Given the description of an element on the screen output the (x, y) to click on. 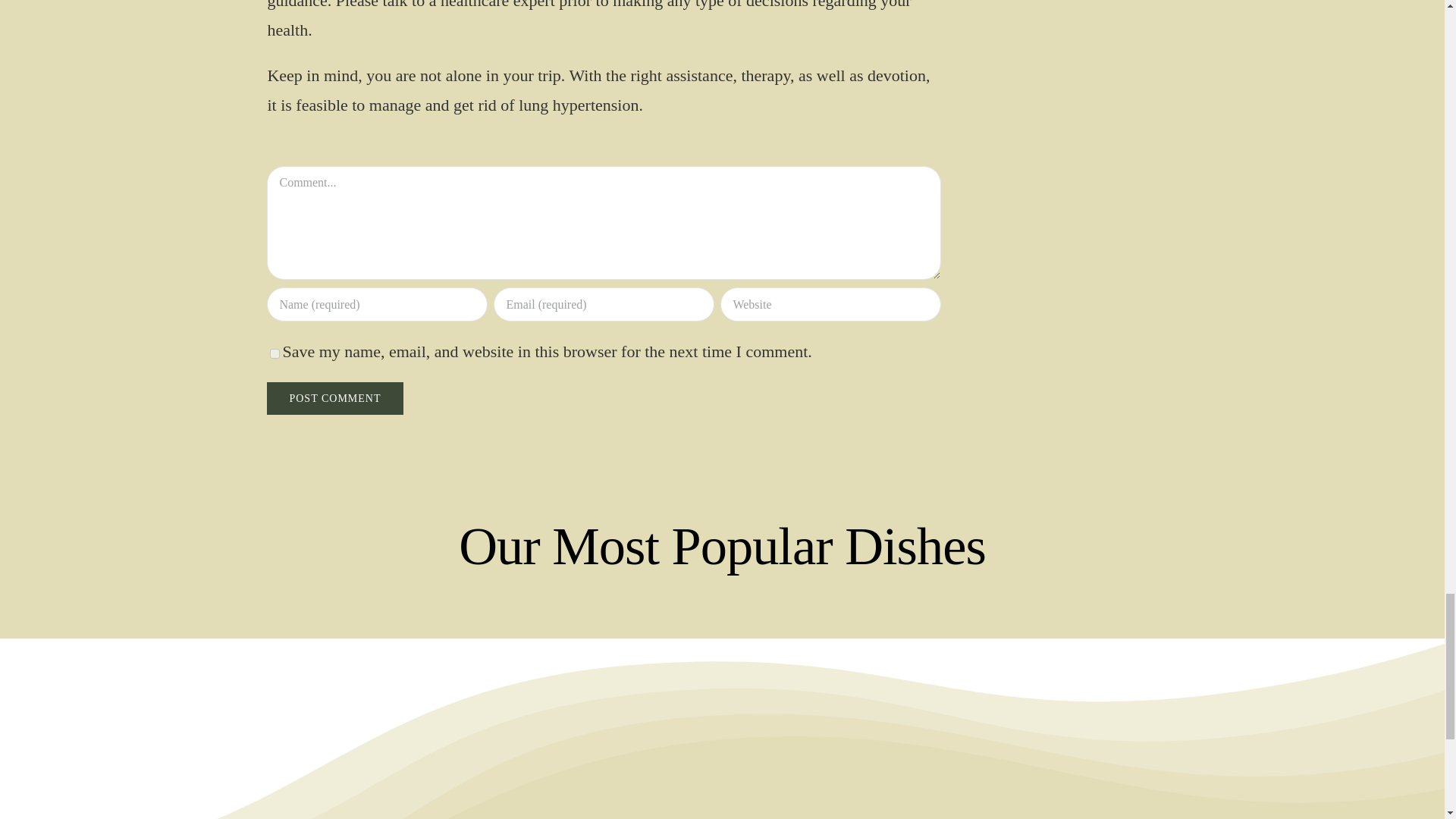
Post Comment (334, 398)
Post Comment (334, 398)
yes (274, 353)
